Given the description of an element on the screen output the (x, y) to click on. 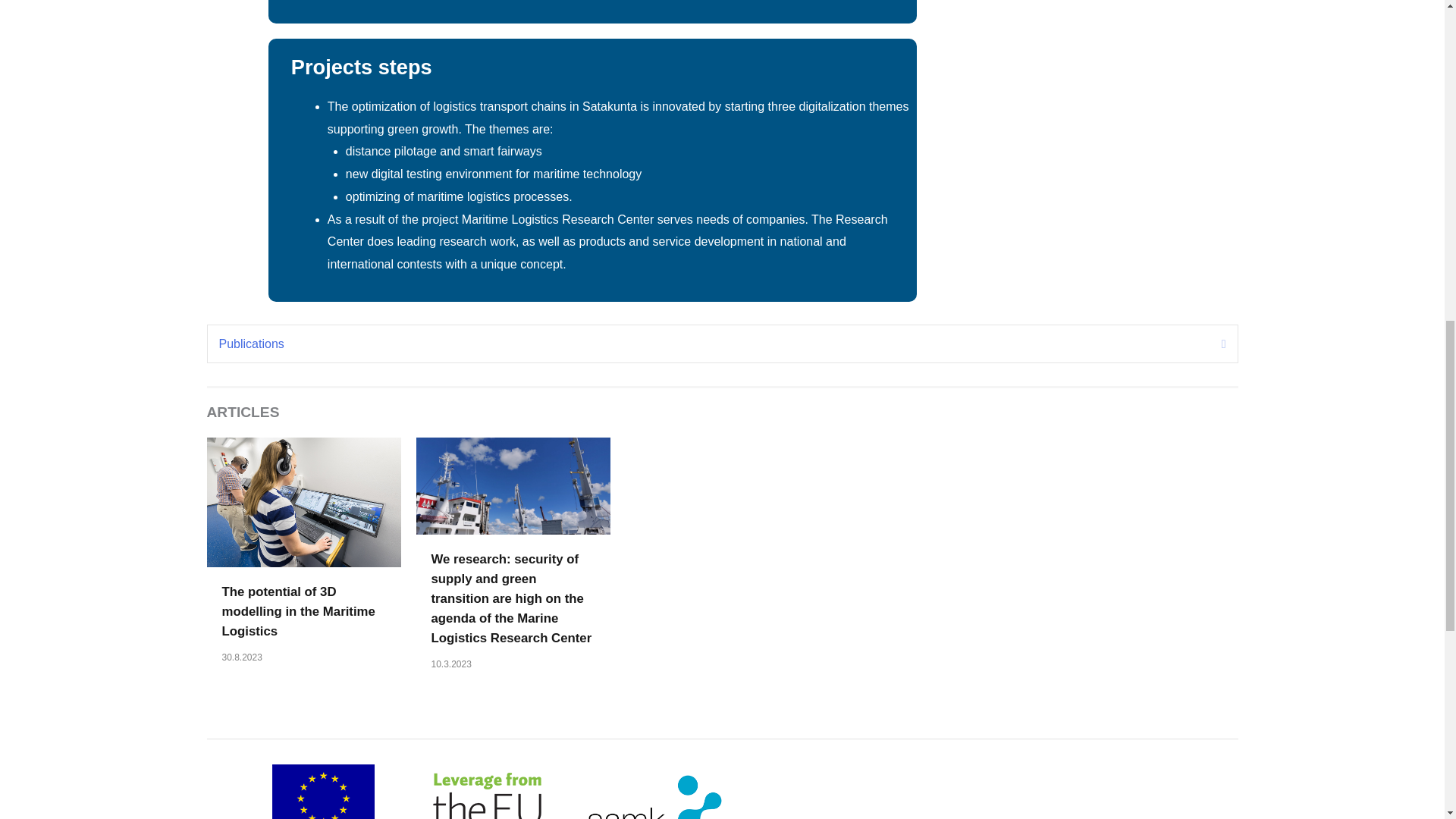
Publications (708, 343)
EU EAKR EN 150 (323, 787)
The potential of 3D modelling in the Maritime Logistics (297, 611)
LeverageEU 2014 2020 150 (486, 791)
The potential of 3D modelling in the Maritime Logistics (297, 611)
The potential of 3D modelling in the Maritime Logistics (303, 501)
Expand (1211, 343)
